Given the description of an element on the screen output the (x, y) to click on. 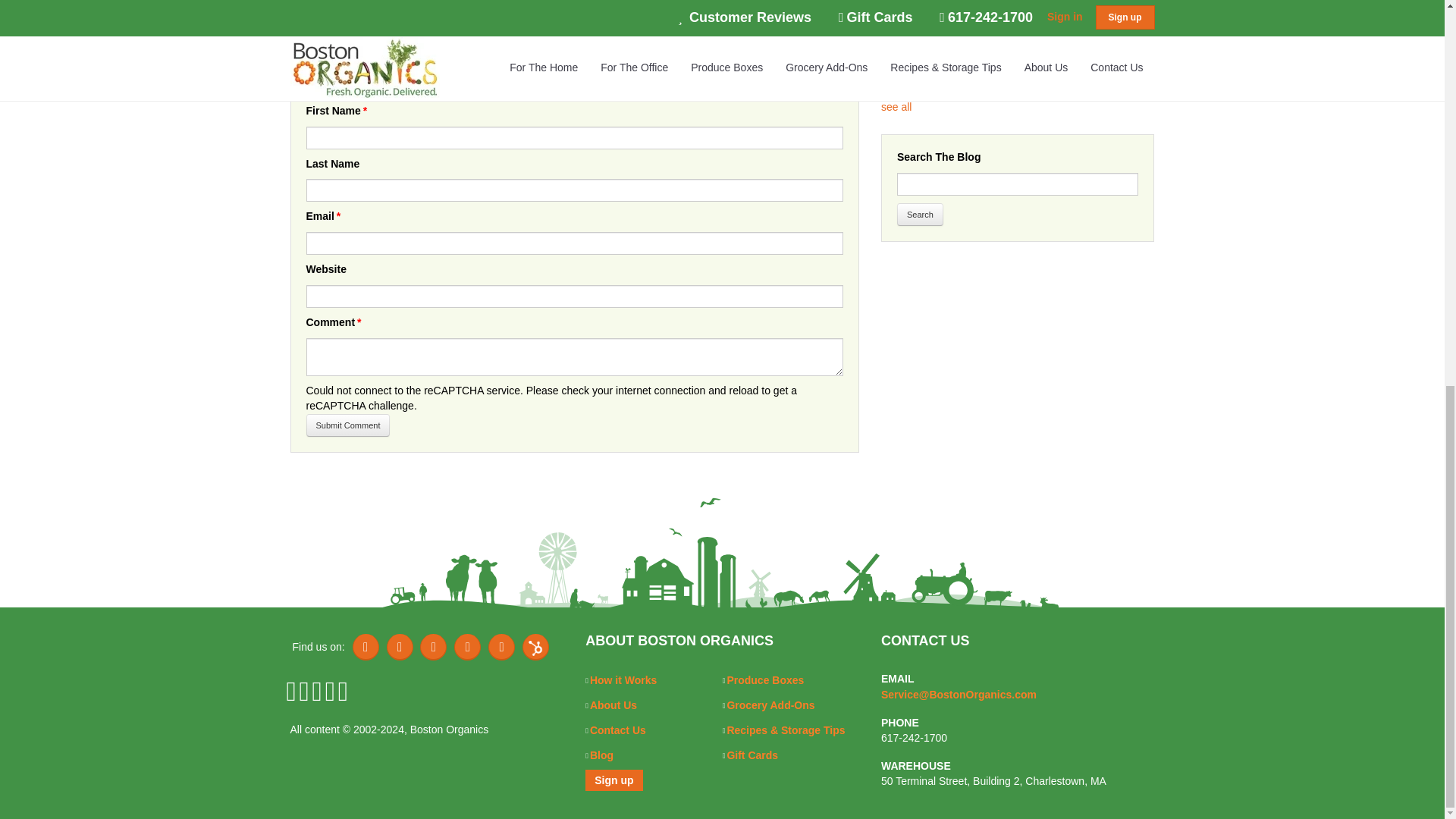
Submit Comment (347, 425)
Organic Grocery Delivery Boston (561, 13)
Guides and Infographics (544, 21)
Submit Comment (347, 425)
summer produce (693, 13)
Home Cooking Kitchen Tips (400, 13)
